Given the description of an element on the screen output the (x, y) to click on. 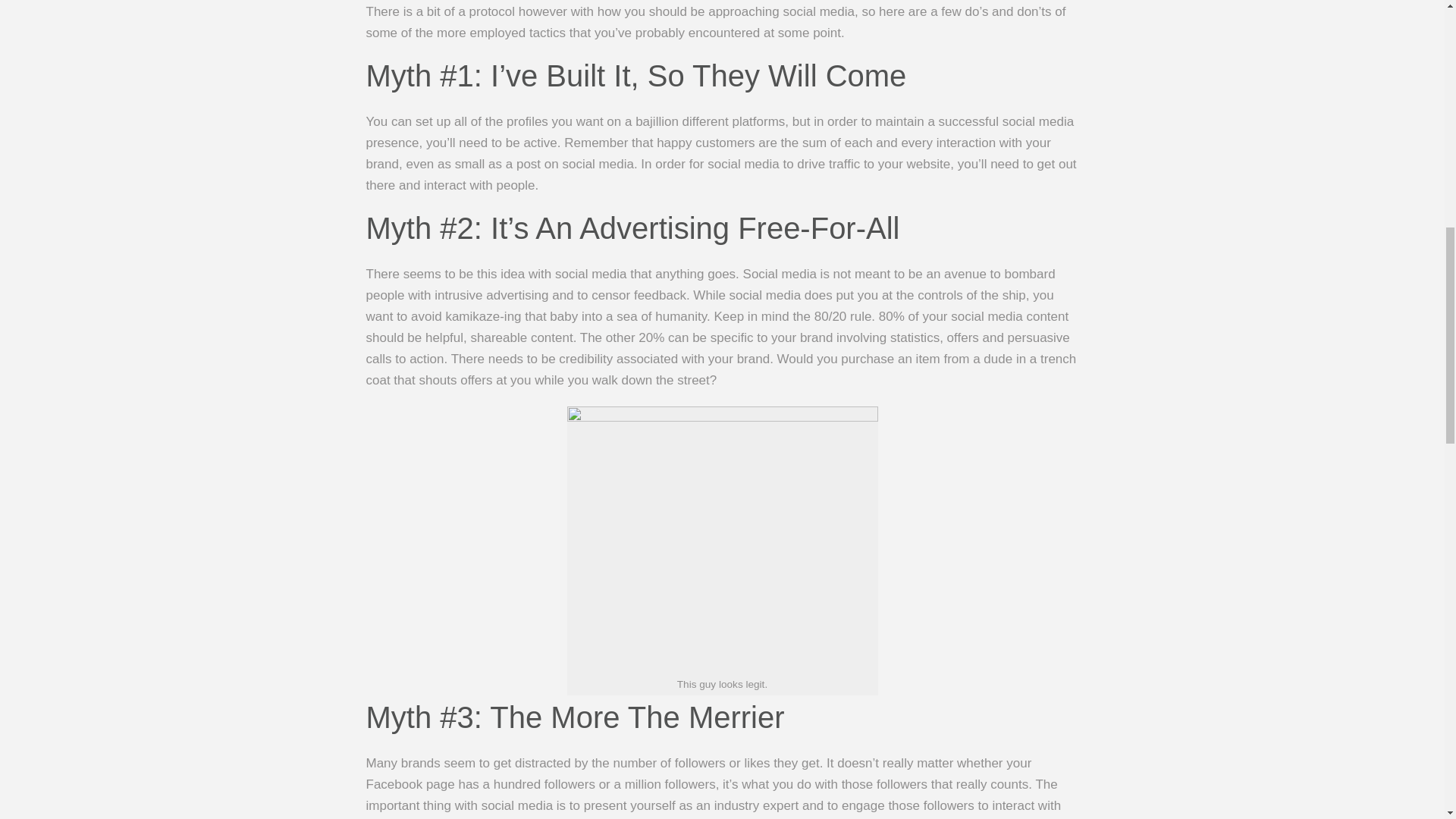
shady (722, 539)
